Given the description of an element on the screen output the (x, y) to click on. 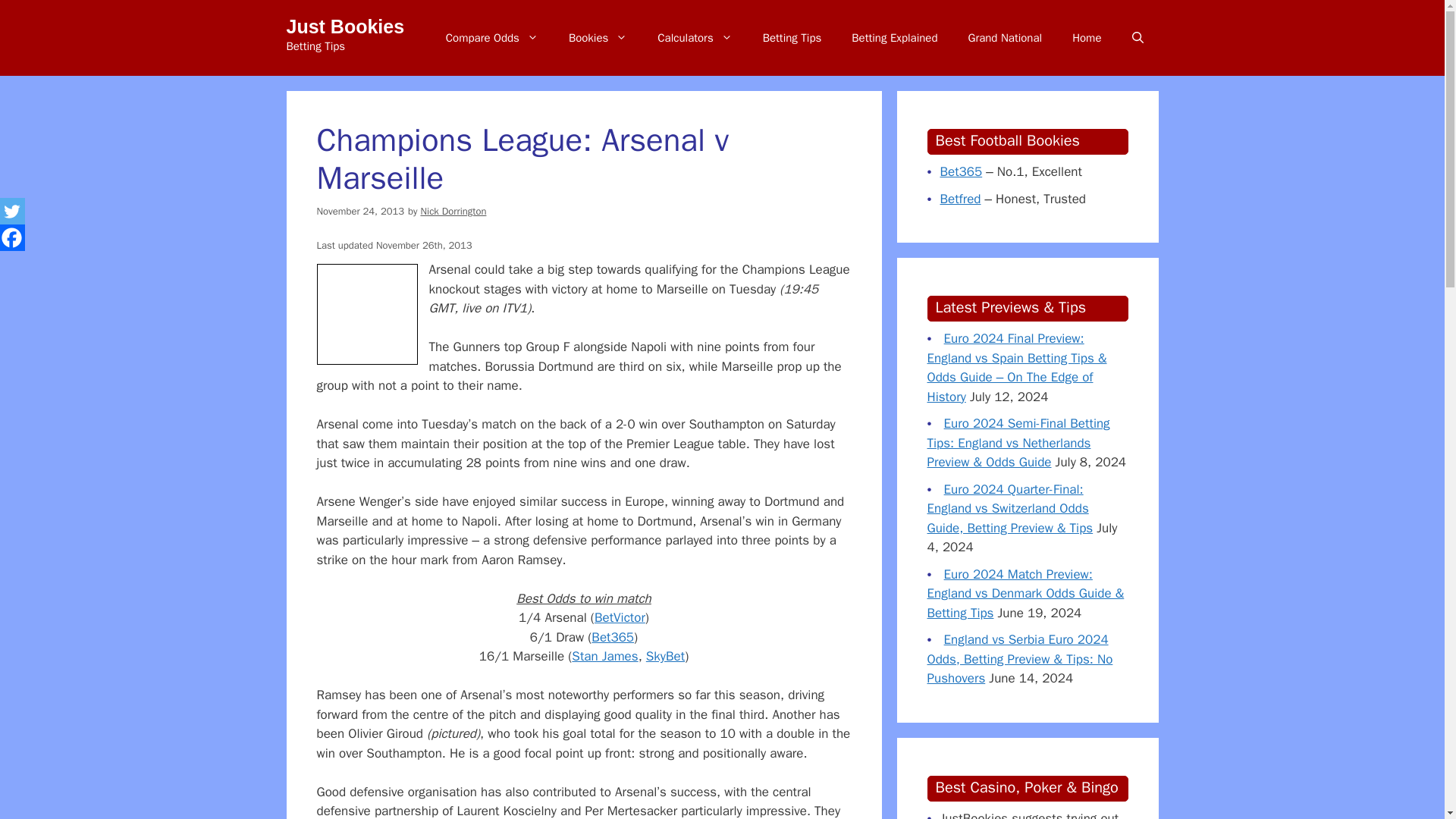
Home (1086, 37)
Compare Odds (491, 37)
Calculators (694, 37)
Grand National (1004, 37)
Betting Explained (893, 37)
Betting Tips (792, 37)
Just Bookies (345, 25)
Bookies (597, 37)
Odds Comparison (491, 37)
